Given the description of an element on the screen output the (x, y) to click on. 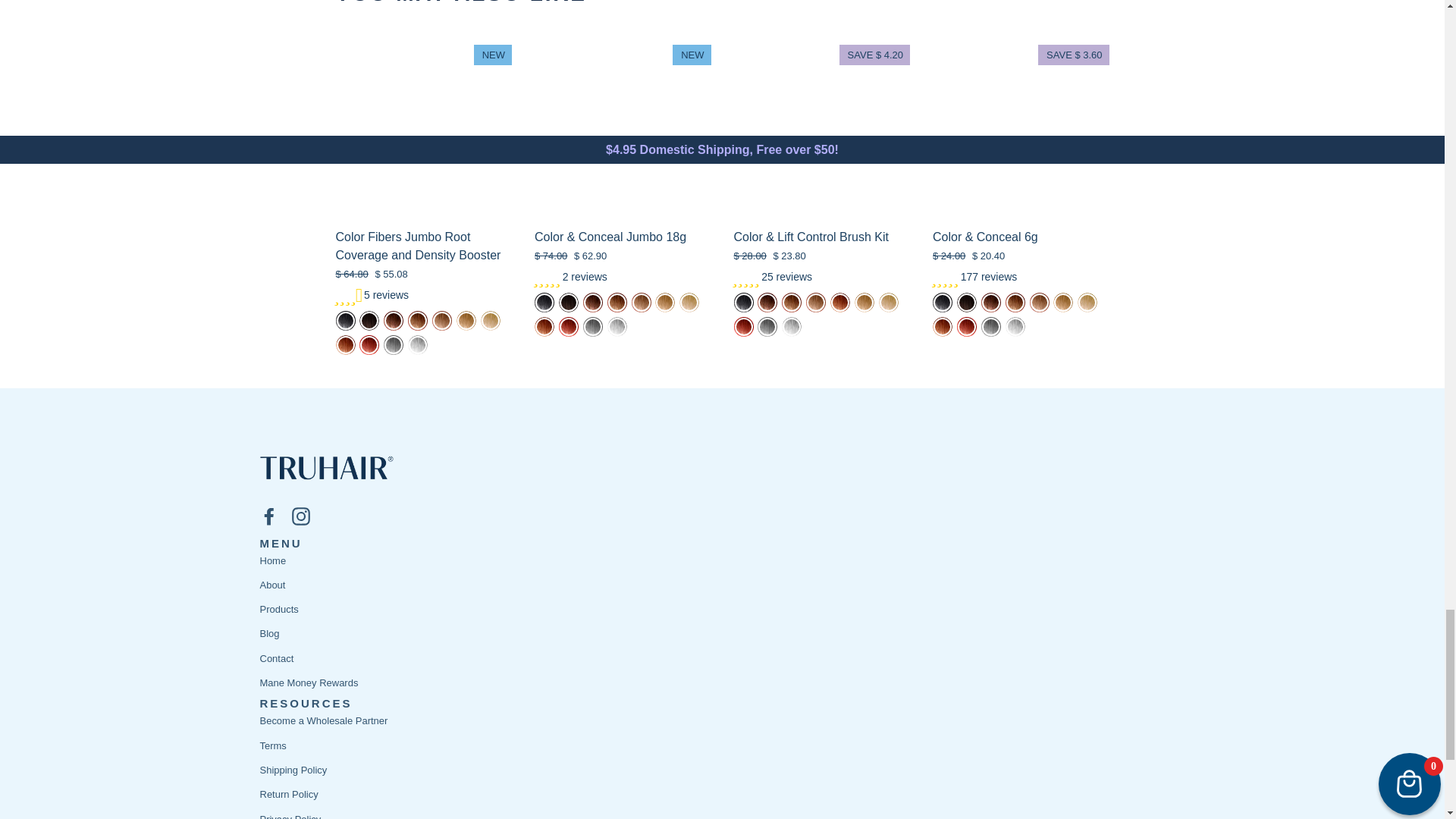
TRUHAIR by Chelsea Scott on Facebook (268, 515)
TRUHAIR by Chelsea Scott on Instagram (301, 515)
